Given the description of an element on the screen output the (x, y) to click on. 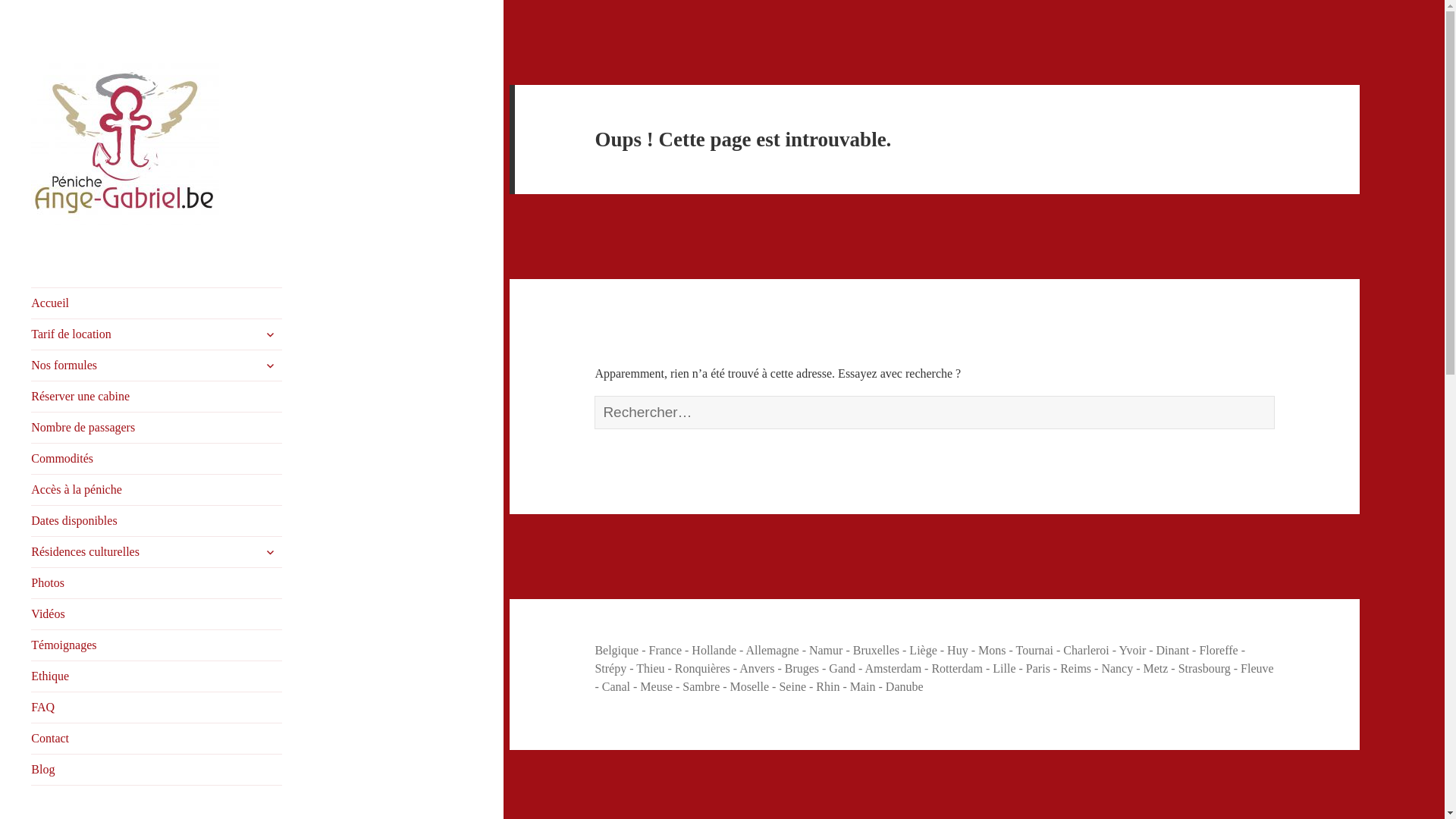
FAQ Element type: text (156, 707)
Photos Element type: text (156, 582)
ouvrir le sous-menu Element type: text (269, 551)
Accueil Element type: text (156, 303)
Blog Element type: text (156, 769)
ouvrir le sous-menu Element type: text (269, 334)
Ange-gabriel Element type: text (93, 249)
Dates disponibles Element type: text (156, 520)
Tarif de location Element type: text (156, 334)
Nos formules Element type: text (156, 365)
Rechercher Element type: text (1274, 395)
ouvrir le sous-menu Element type: text (269, 365)
Ethique Element type: text (156, 676)
Nombre de passagers Element type: text (156, 427)
Contact Element type: text (156, 738)
